Given the description of an element on the screen output the (x, y) to click on. 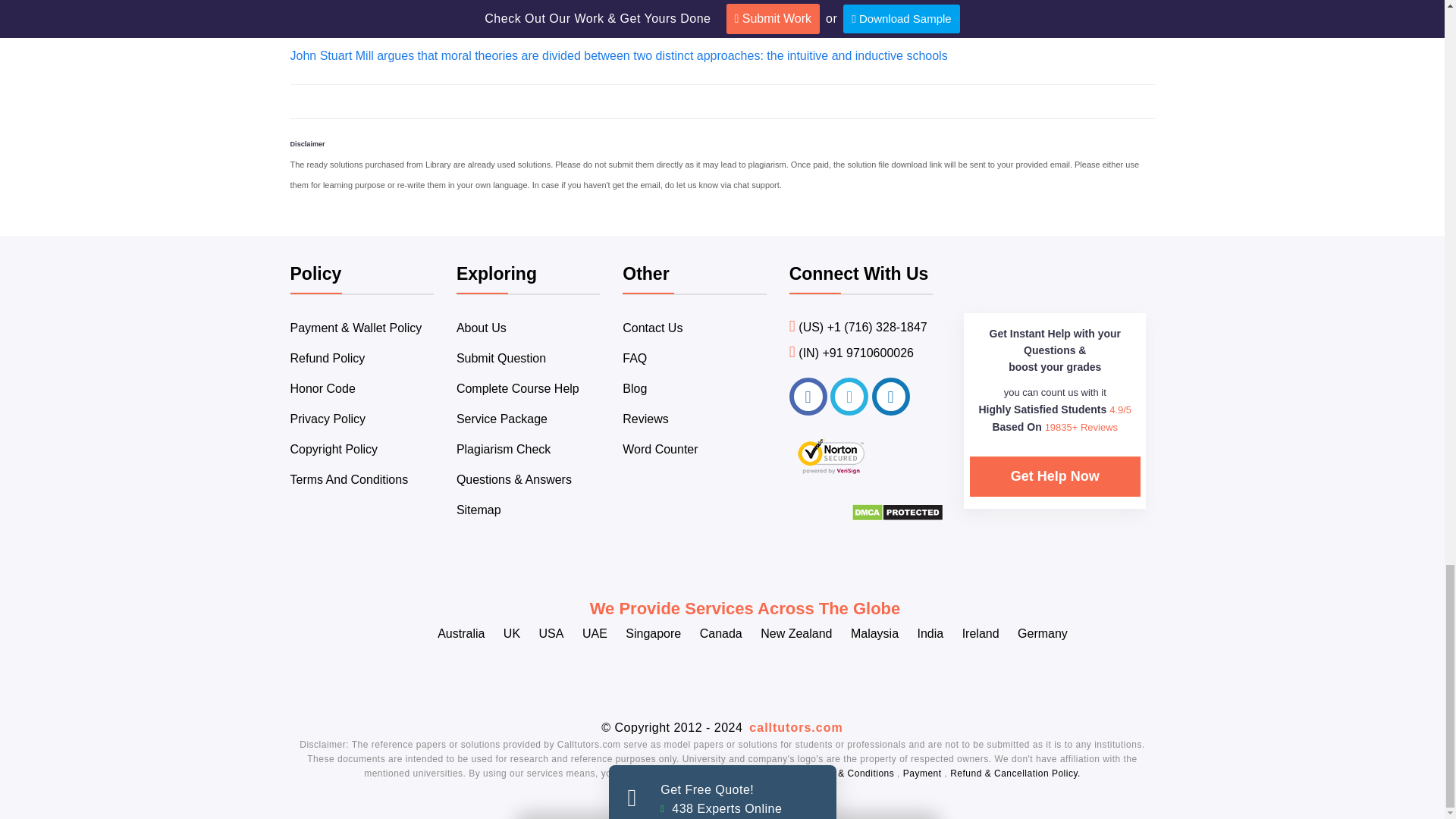
Refund Policy (327, 358)
Linked In (891, 396)
Jackson Pollock (333, 2)
Twitter (848, 396)
Honor Code (322, 388)
Facebook (808, 396)
CallTutors DMCA.com Protection Status (897, 517)
